Given the description of an element on the screen output the (x, y) to click on. 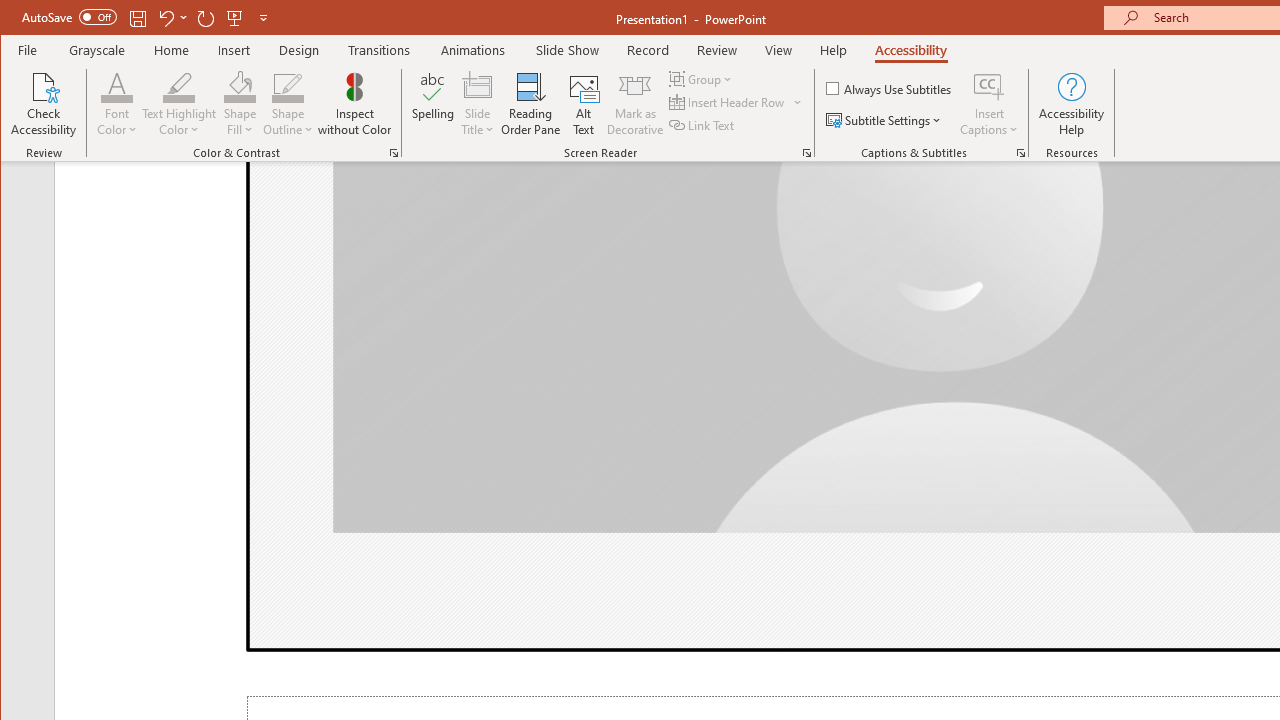
Captions & Subtitles (1020, 152)
Reading Order Pane (531, 104)
Screen Reader (806, 152)
Slide Title (477, 86)
Color & Contrast (393, 152)
